Given the description of an element on the screen output the (x, y) to click on. 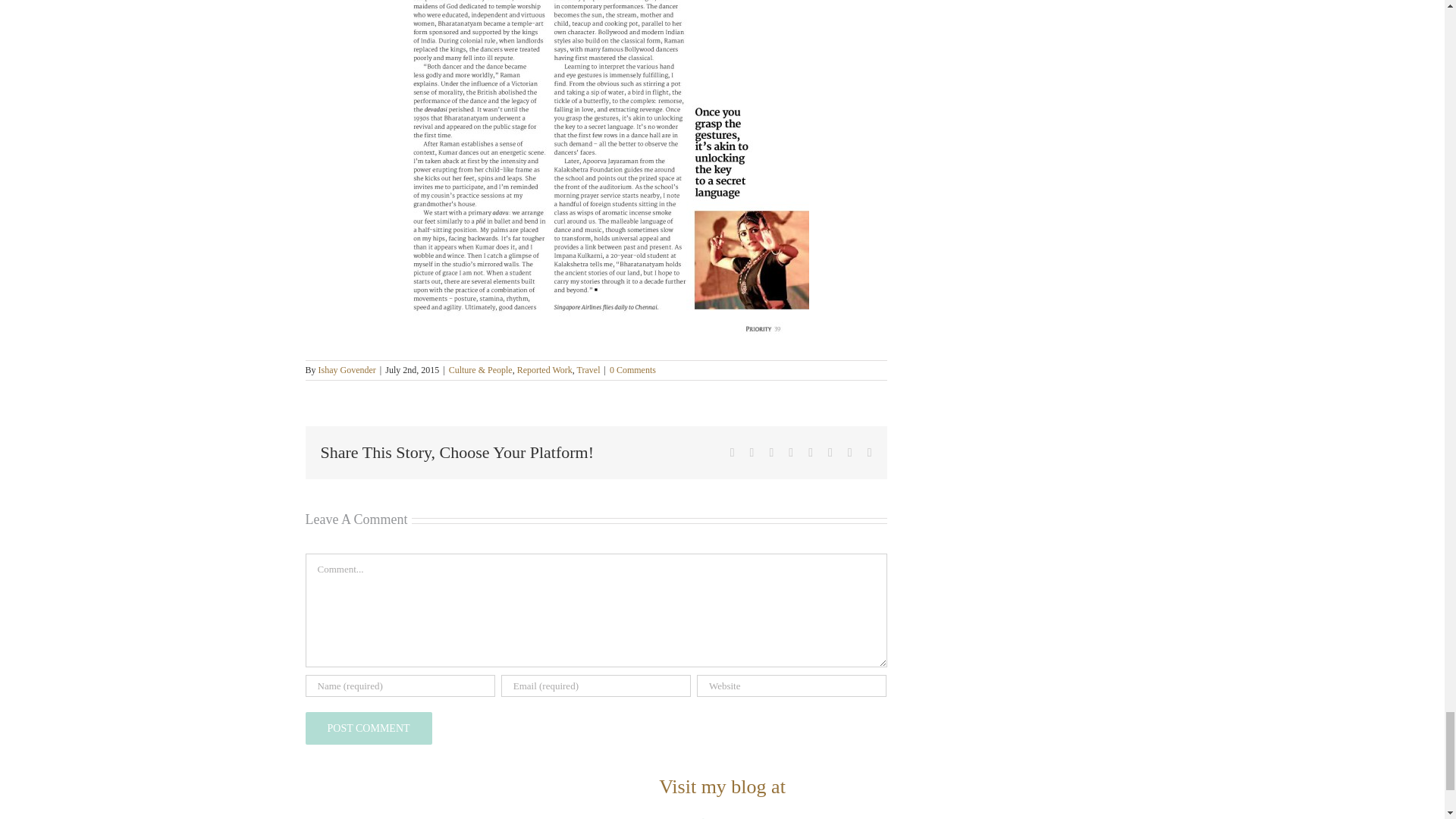
Post Comment (367, 727)
Reported Work (544, 369)
Posts by Ishay Govender (346, 369)
0 Comments (633, 369)
Ishay Govender (346, 369)
Travel (587, 369)
